Given the description of an element on the screen output the (x, y) to click on. 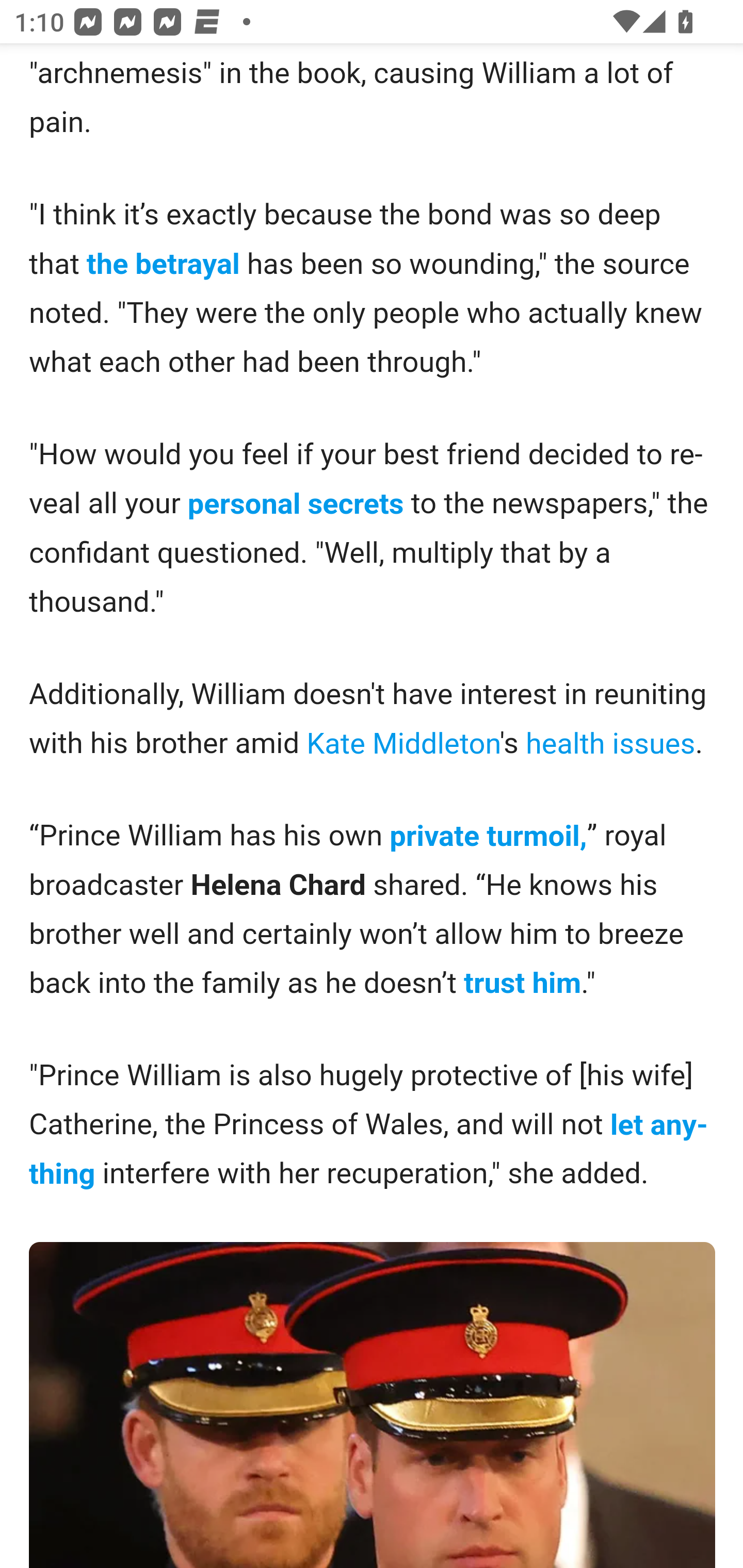
the betrayal (161, 264)
personal secrets (294, 502)
Kate Middleton (402, 742)
health issues (609, 742)
private turmoil, (487, 835)
trust him (521, 982)
let anything (368, 1148)
